Given the description of an element on the screen output the (x, y) to click on. 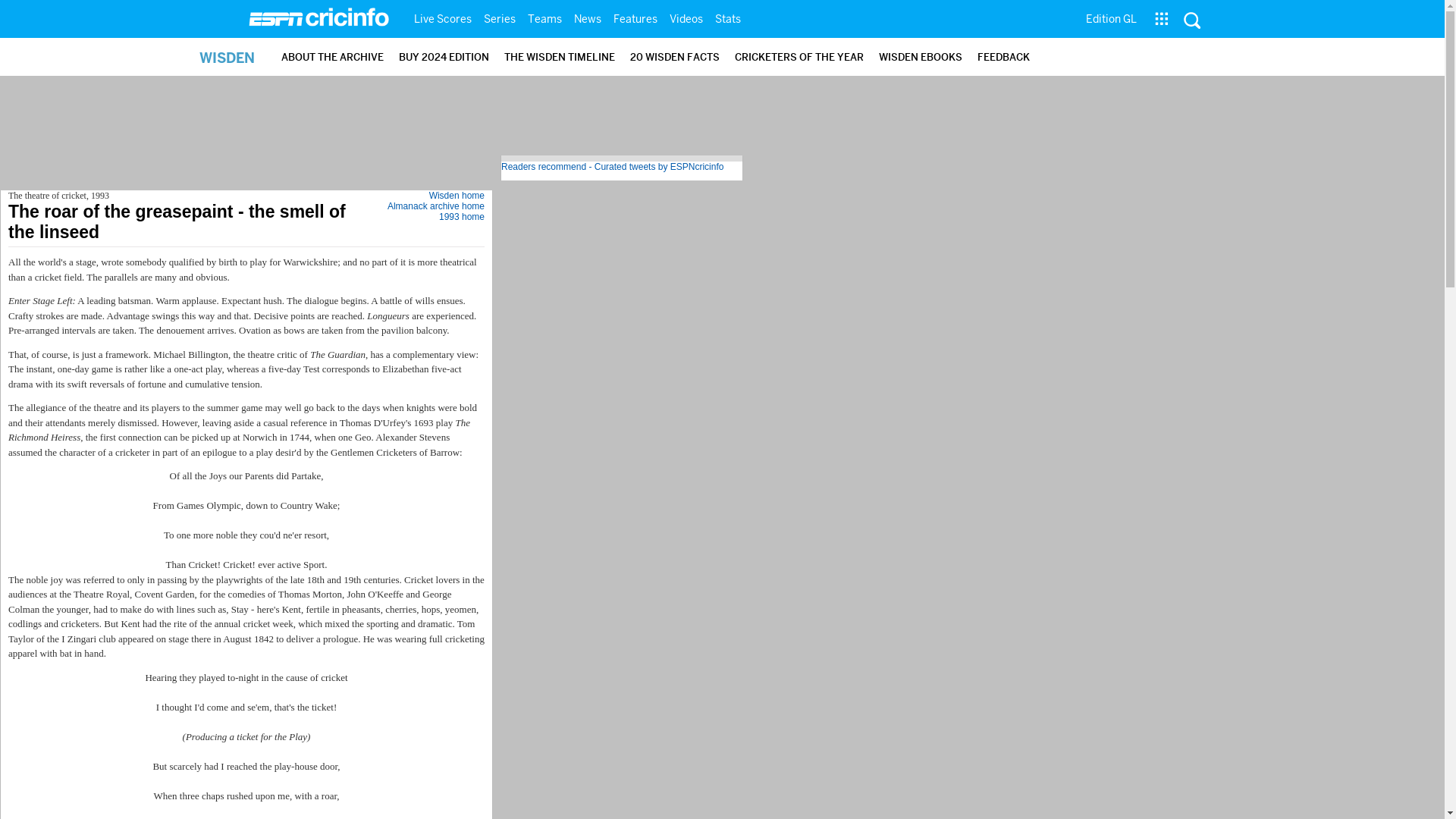
Teams (544, 18)
Series (499, 18)
Wisden (246, 166)
Live Scores (442, 18)
